Given the description of an element on the screen output the (x, y) to click on. 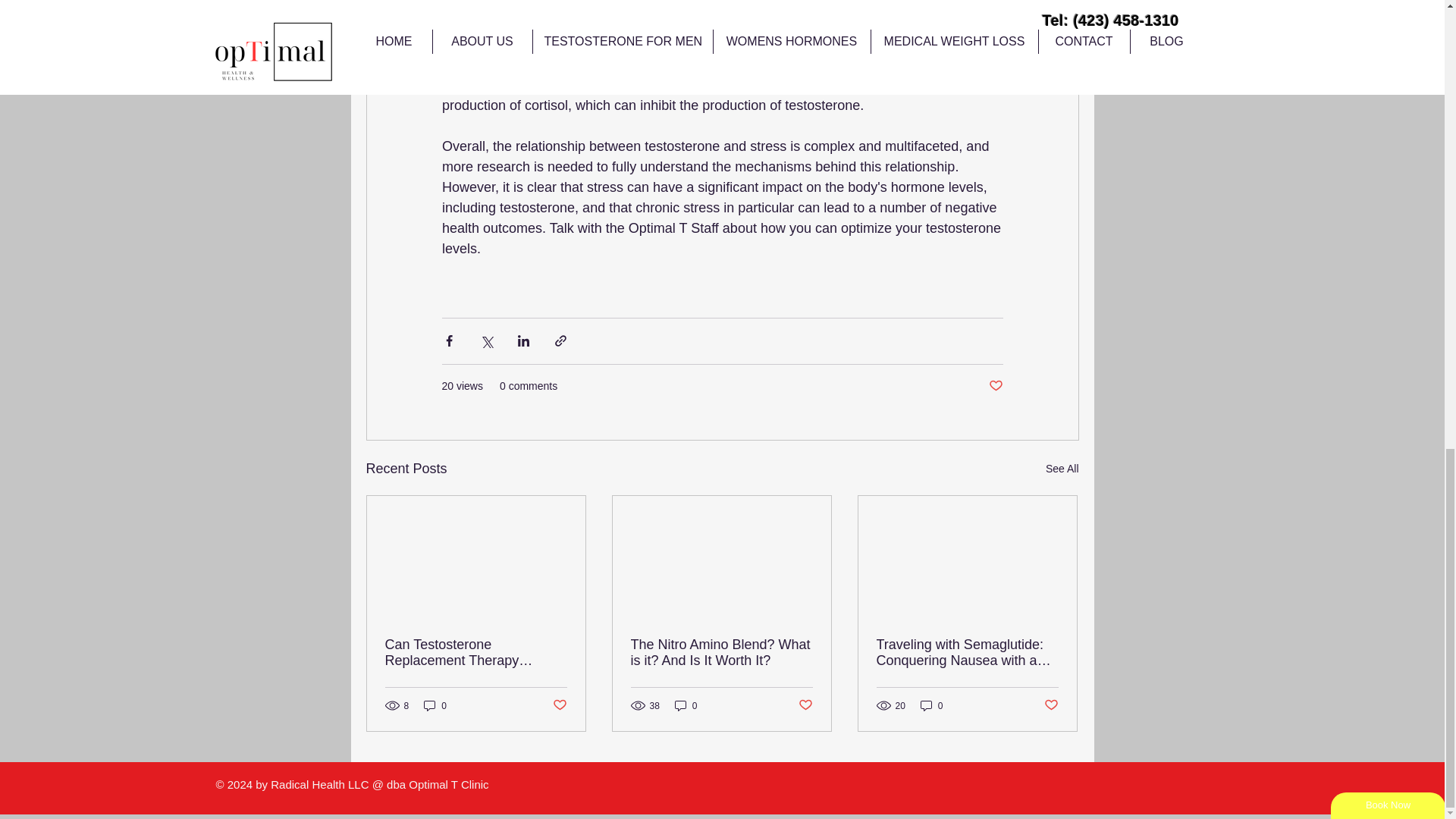
The Nitro Amino Blend? What is it? And Is It Worth It? (721, 653)
See All (1061, 468)
0 (435, 705)
Post not marked as liked (804, 705)
Traveling with Semaglutide: Conquering Nausea with a Smile (967, 653)
Post not marked as liked (558, 705)
Post not marked as liked (995, 385)
0 (931, 705)
0 (685, 705)
